Given the description of an element on the screen output the (x, y) to click on. 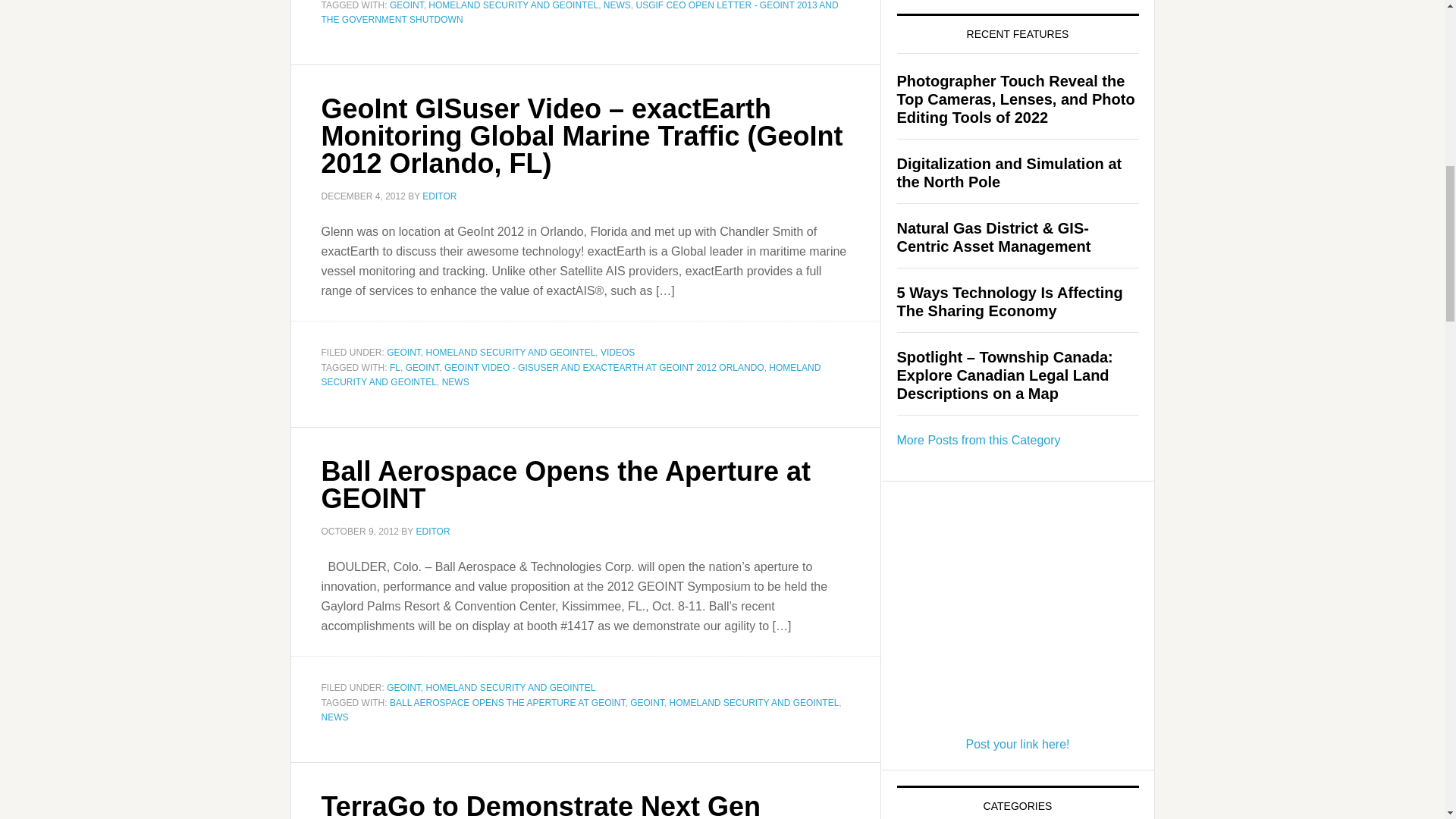
NEWS (617, 5)
HOMELAND SECURITY AND GEOINTEL (513, 5)
GEOINT (406, 5)
Top Features (977, 440)
